Given the description of an element on the screen output the (x, y) to click on. 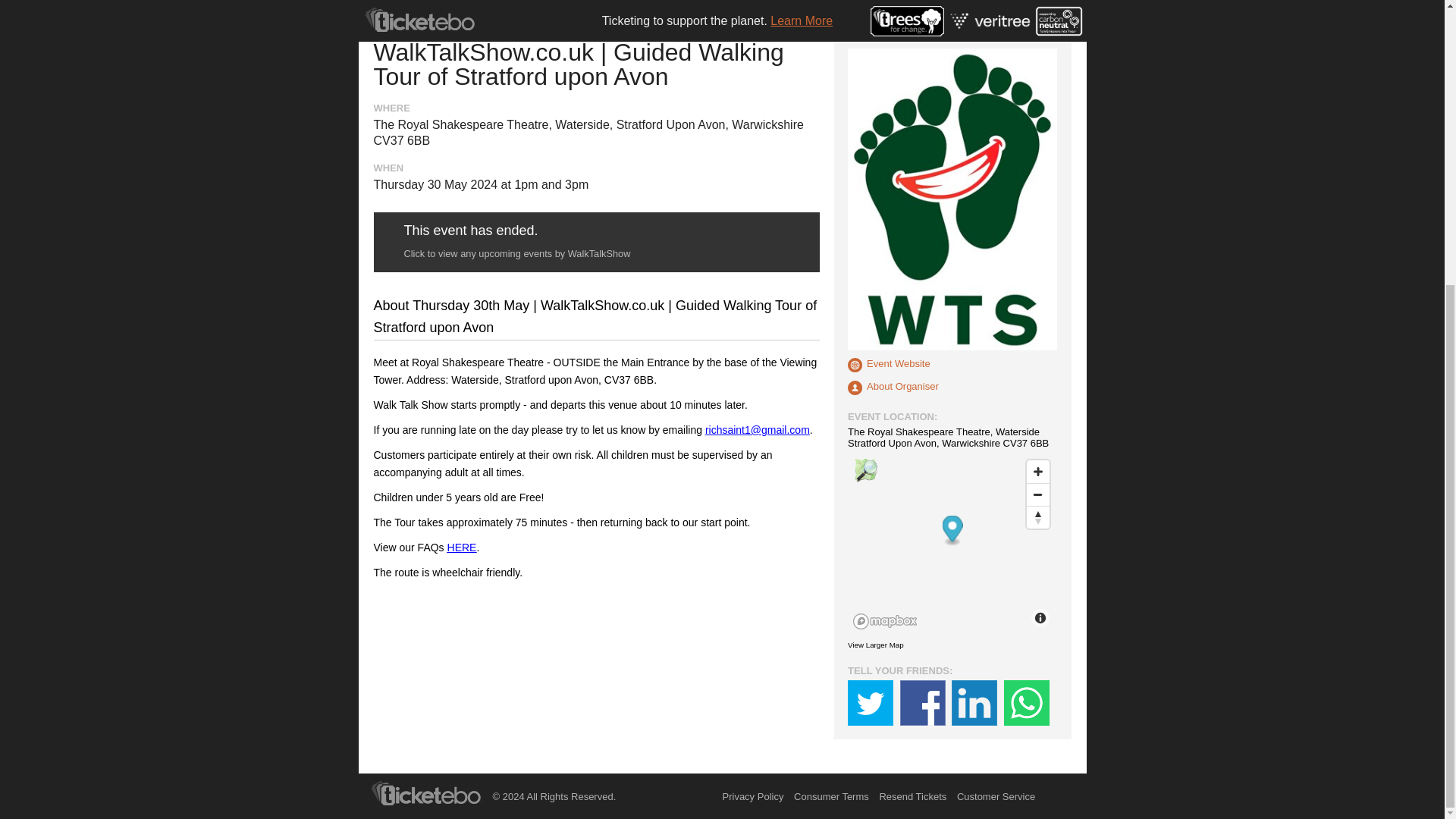
Go to Event website (888, 365)
Facebook (921, 702)
View Larger Map (875, 644)
LinkedIn (974, 702)
Resend Tickets (912, 796)
Click to view any upcoming events by WalkTalkShow (516, 253)
Customer Service (995, 796)
WalkTalkShow (883, 35)
Event Website (888, 365)
Consumer Terms (831, 796)
Twitter (870, 702)
Whatsapp (1026, 702)
Whatsapp (1026, 702)
LinkedIn (974, 702)
Other events by this organiser (893, 387)
